Given the description of an element on the screen output the (x, y) to click on. 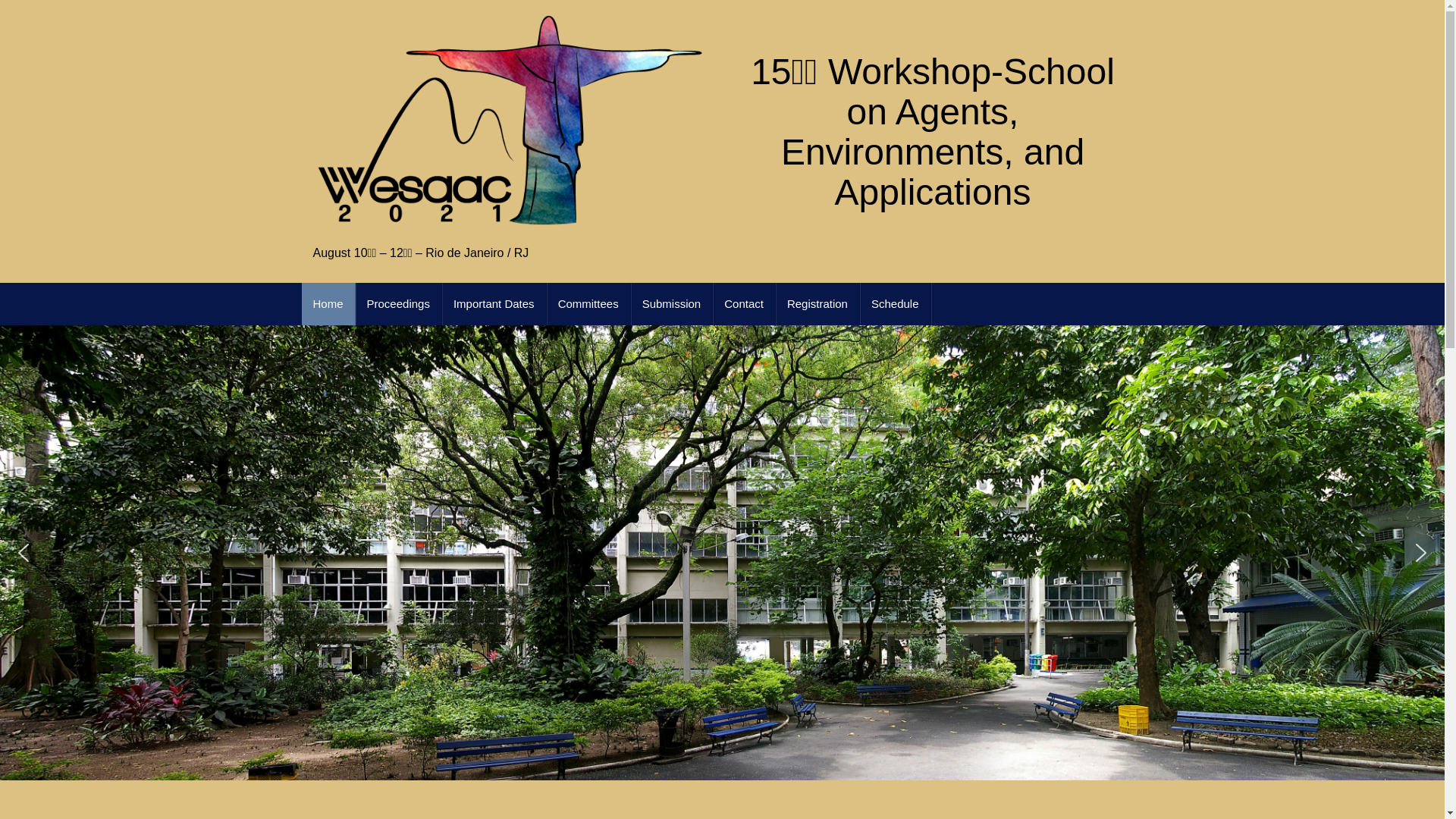
Schedule Element type: text (895, 303)
Contact Element type: text (743, 303)
Registration Element type: text (817, 303)
Proceedings Element type: text (398, 303)
Committees Element type: text (588, 303)
Important Dates Element type: text (494, 303)
Home Element type: text (328, 303)
Submission Element type: text (671, 303)
